Given the description of an element on the screen output the (x, y) to click on. 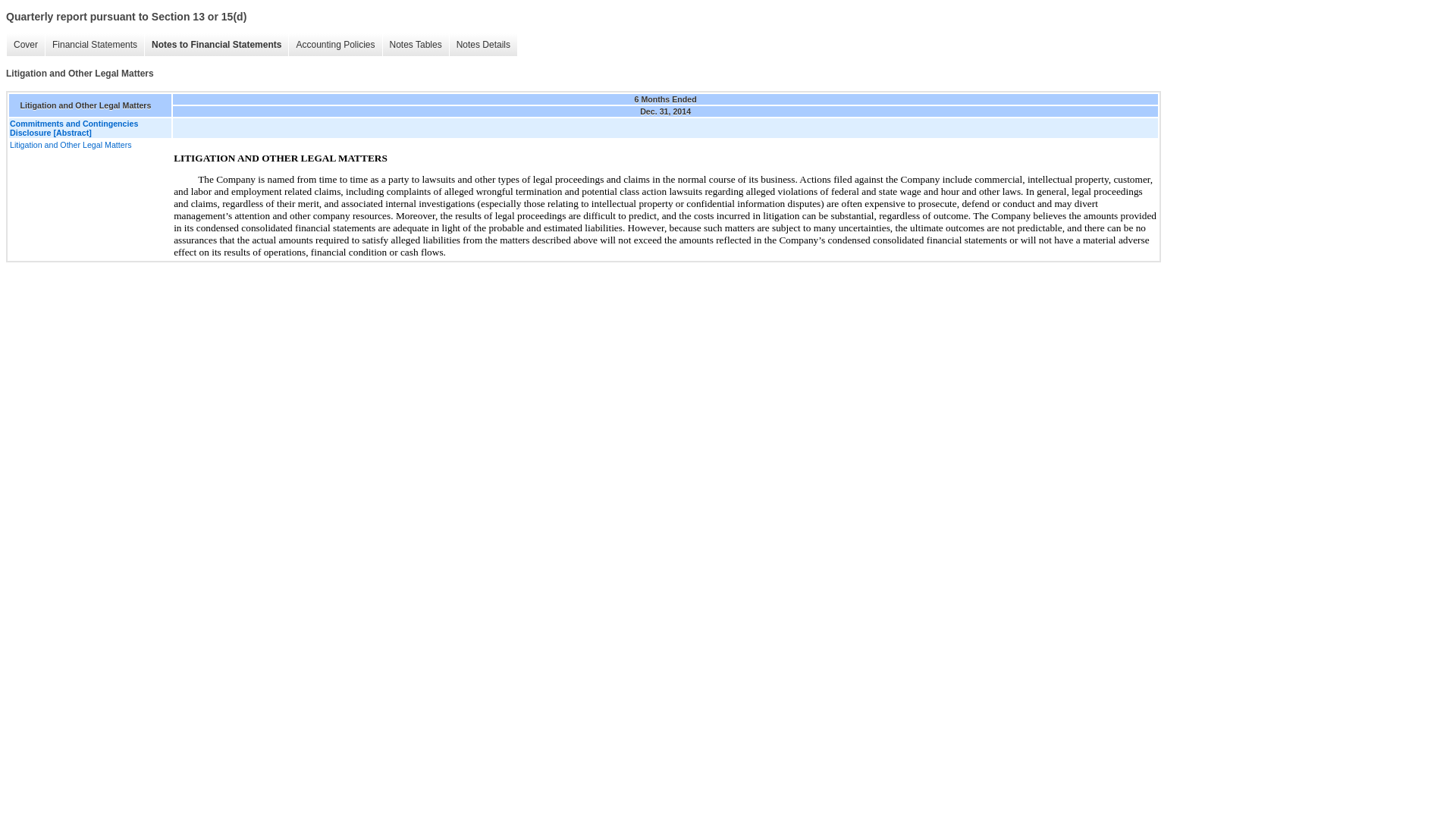
Notes to Financial Statements (216, 44)
Accounting Policies (334, 44)
Financial Statements (94, 44)
Notes Tables (414, 44)
Cover (25, 44)
